Given the description of an element on the screen output the (x, y) to click on. 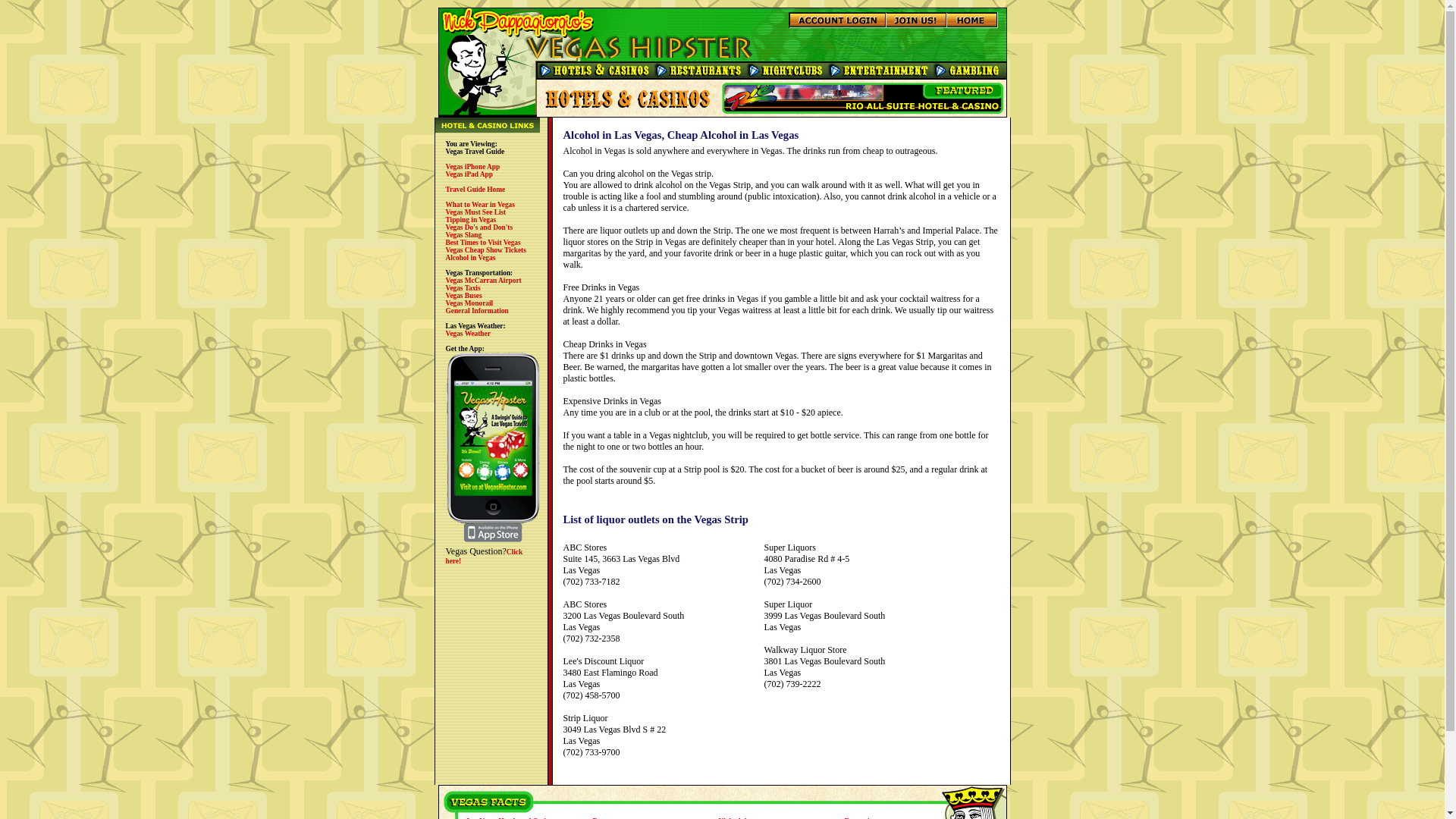
Best Times to Visit Vegas (483, 242)
Vegas Do's and Don'ts (479, 226)
Restaurants (610, 818)
Vegas McCarran Airport (483, 280)
Vegas Monorail (469, 303)
Vegas Taxis (462, 287)
General Information (476, 310)
Vegas iPhone App (472, 166)
What to Wear in Vegas (480, 204)
Vegas Cheap Show Tickets (485, 249)
Vegas Buses (463, 295)
Vegas Must See List (475, 212)
Click here! (483, 556)
Nightclubs (735, 818)
Travel Guide Home (475, 189)
